Given the description of an element on the screen output the (x, y) to click on. 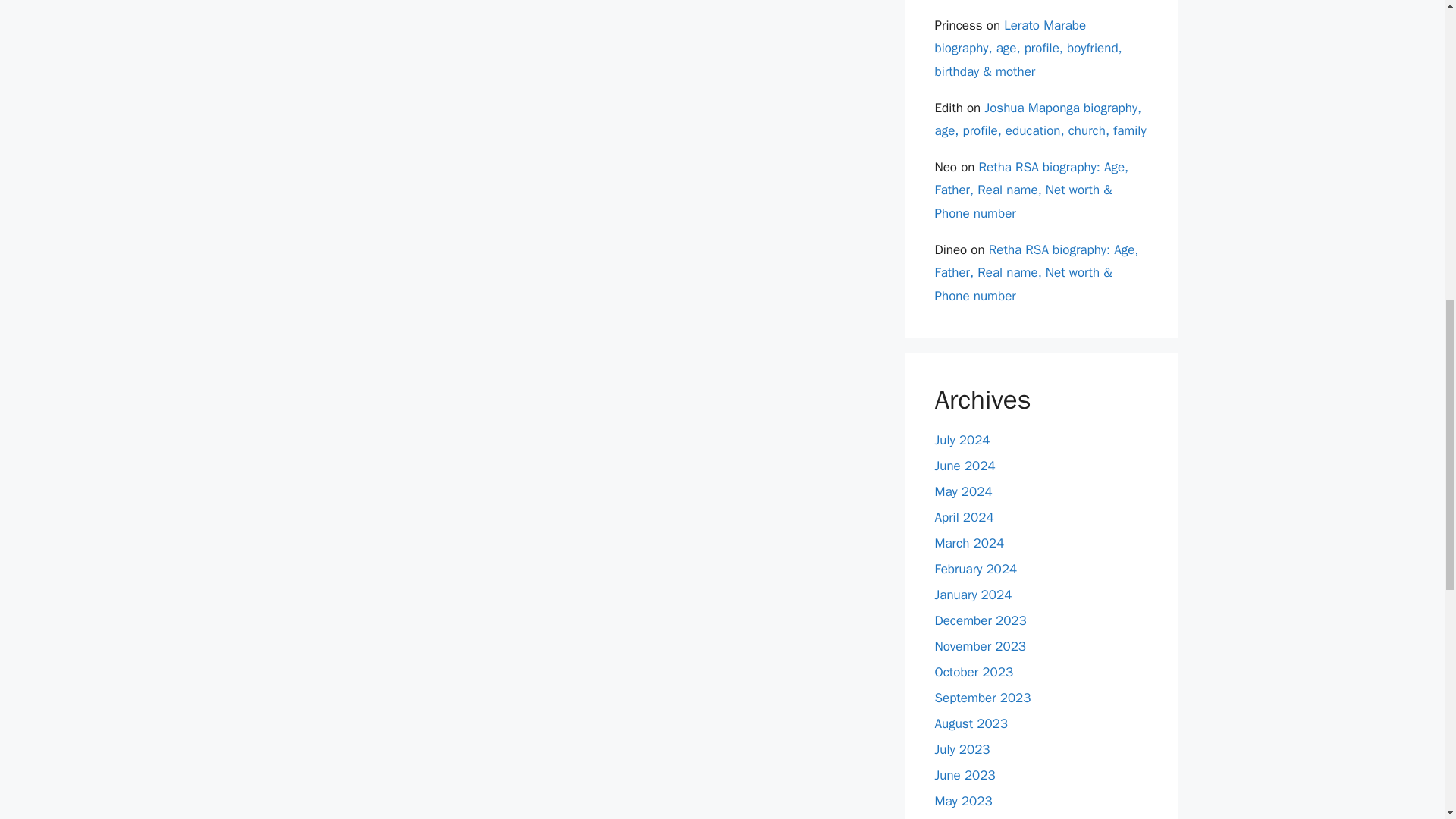
May 2023 (962, 801)
September 2023 (982, 697)
July 2023 (962, 749)
May 2024 (962, 491)
March 2024 (969, 543)
February 2024 (975, 569)
June 2023 (964, 774)
July 2024 (962, 439)
April 2024 (963, 517)
June 2024 (964, 465)
January 2024 (972, 594)
August 2023 (970, 723)
October 2023 (973, 672)
December 2023 (980, 620)
